Given the description of an element on the screen output the (x, y) to click on. 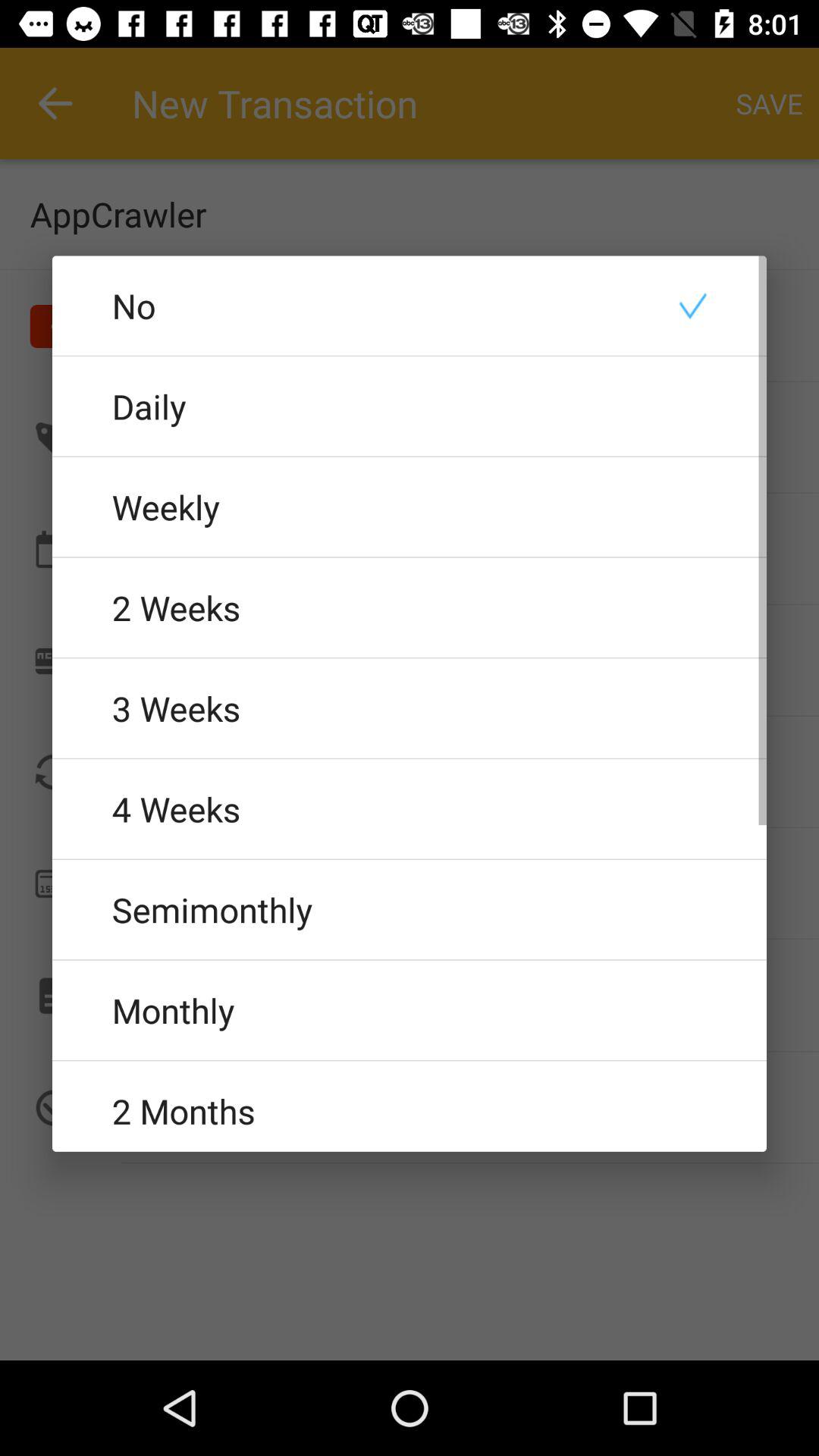
turn on weekly icon (409, 506)
